Given the description of an element on the screen output the (x, y) to click on. 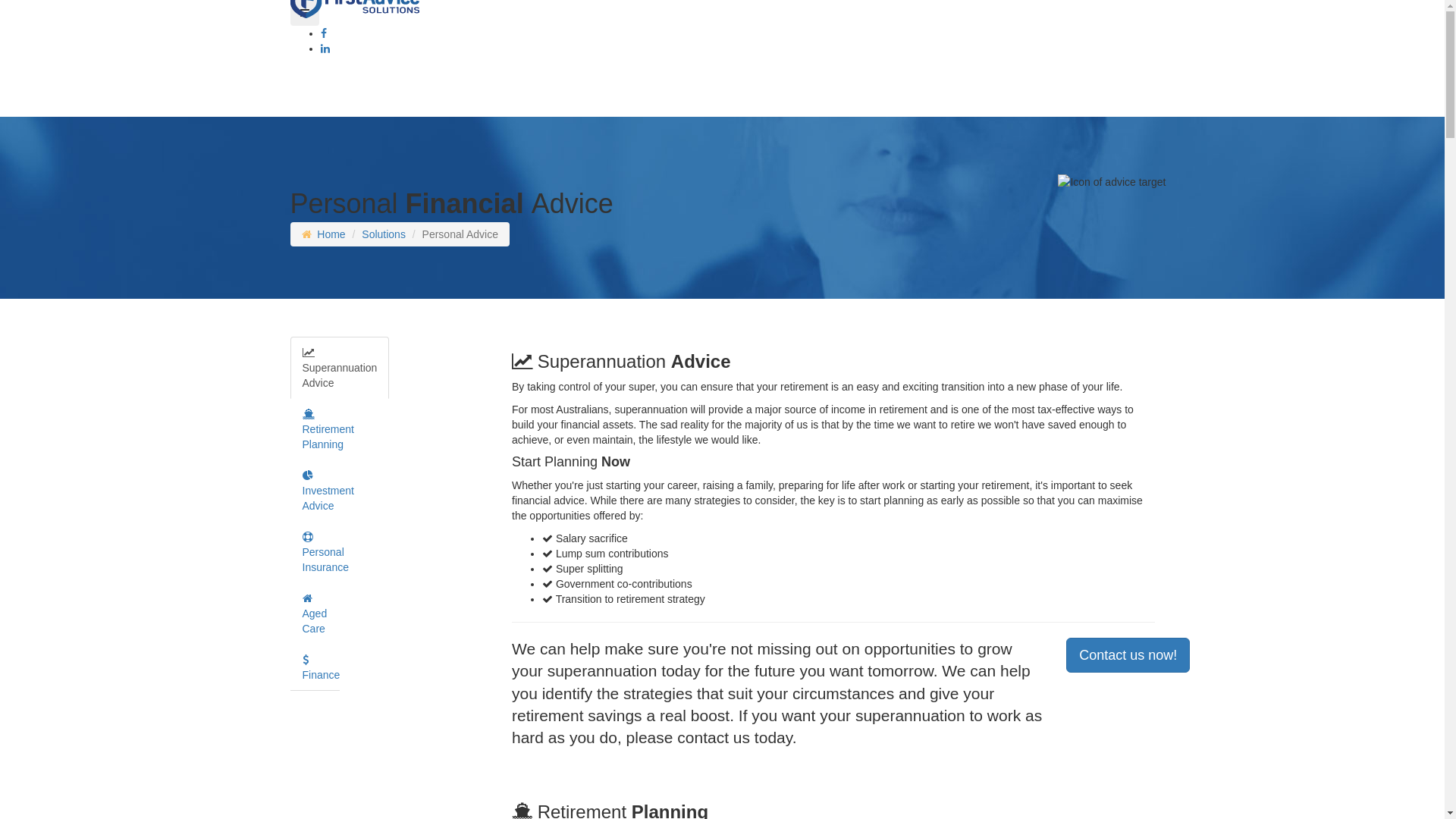
Linkedin Element type: hover (324, 48)
Aged Care Element type: text (313, 613)
Superannuation Advice Element type: text (339, 367)
Finance Element type: text (320, 666)
Retirement Planning Element type: text (327, 429)
Contact us now! Element type: text (1127, 654)
Solutions Element type: text (383, 234)
Personal Insurance Element type: text (324, 551)
Facebook Element type: hover (323, 33)
Investment Advice Element type: text (327, 490)
Home Element type: text (330, 234)
